Given the description of an element on the screen output the (x, y) to click on. 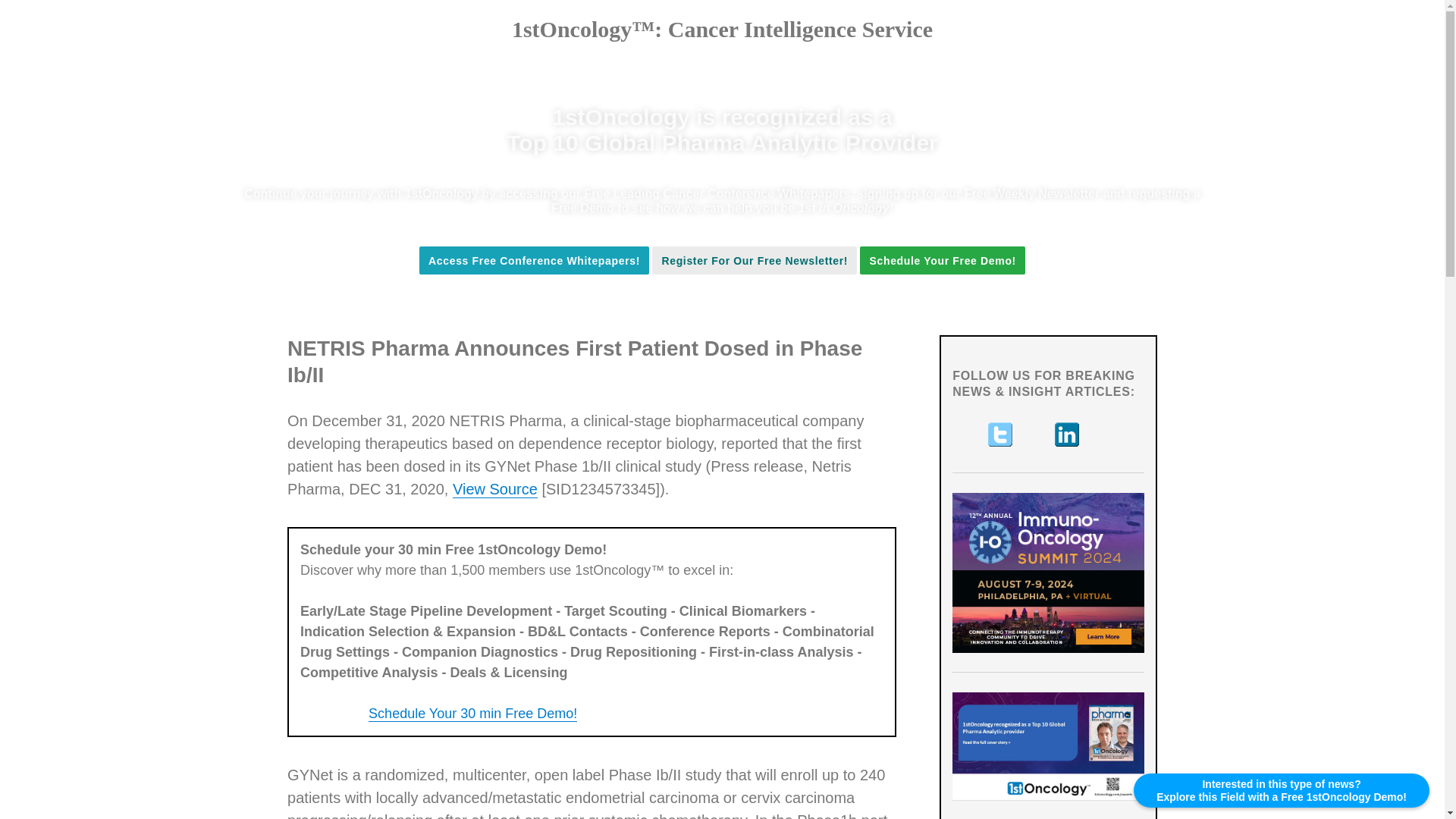
Register For Our Free Newsletter! (754, 260)
Register for our 1stOncologyWeekly Newsletter! (754, 260)
1stOncology a Top 10 Pharma Analytic Provider (1048, 746)
Access Free Conference Whitepapers! (534, 260)
Follow us on Twitter (1000, 434)
Schedule Your Free Demo! (942, 260)
Schedule Your Free Demo! (942, 260)
Access Free Conference Whitepapers! (534, 260)
IO Summit 2024 (1048, 572)
